Given the description of an element on the screen output the (x, y) to click on. 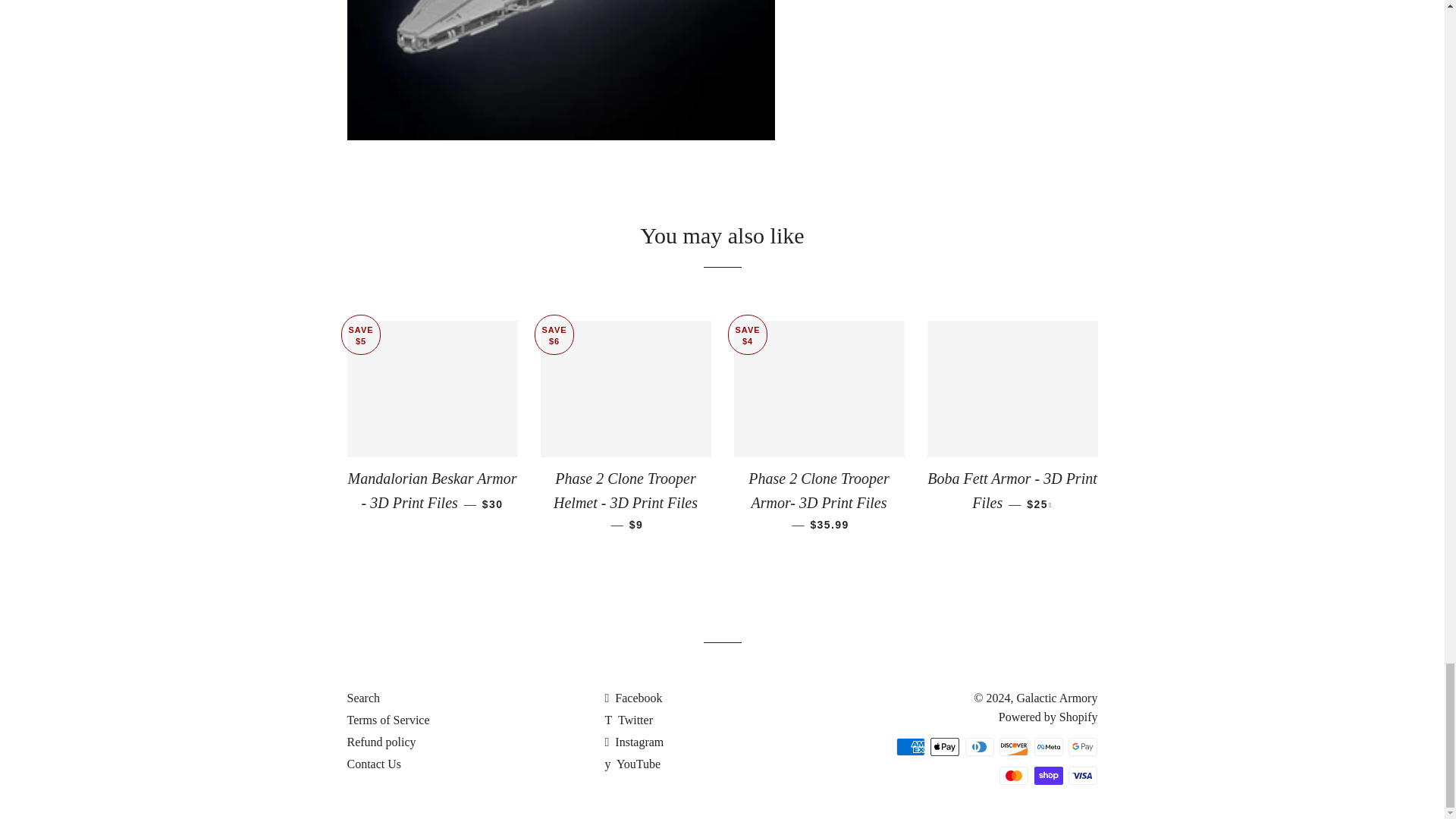
Mastercard (1012, 775)
Galactic Armory on YouTube (632, 763)
Galactic Armory on Instagram (633, 741)
Apple Pay (944, 746)
Galactic Armory on Facebook (633, 697)
American Express (910, 746)
Shop Pay (1047, 775)
Meta Pay (1047, 746)
Diners Club (979, 746)
Visa (1082, 775)
Google Pay (1082, 746)
Discover (1012, 746)
Galactic Armory on Twitter (628, 719)
